Given the description of an element on the screen output the (x, y) to click on. 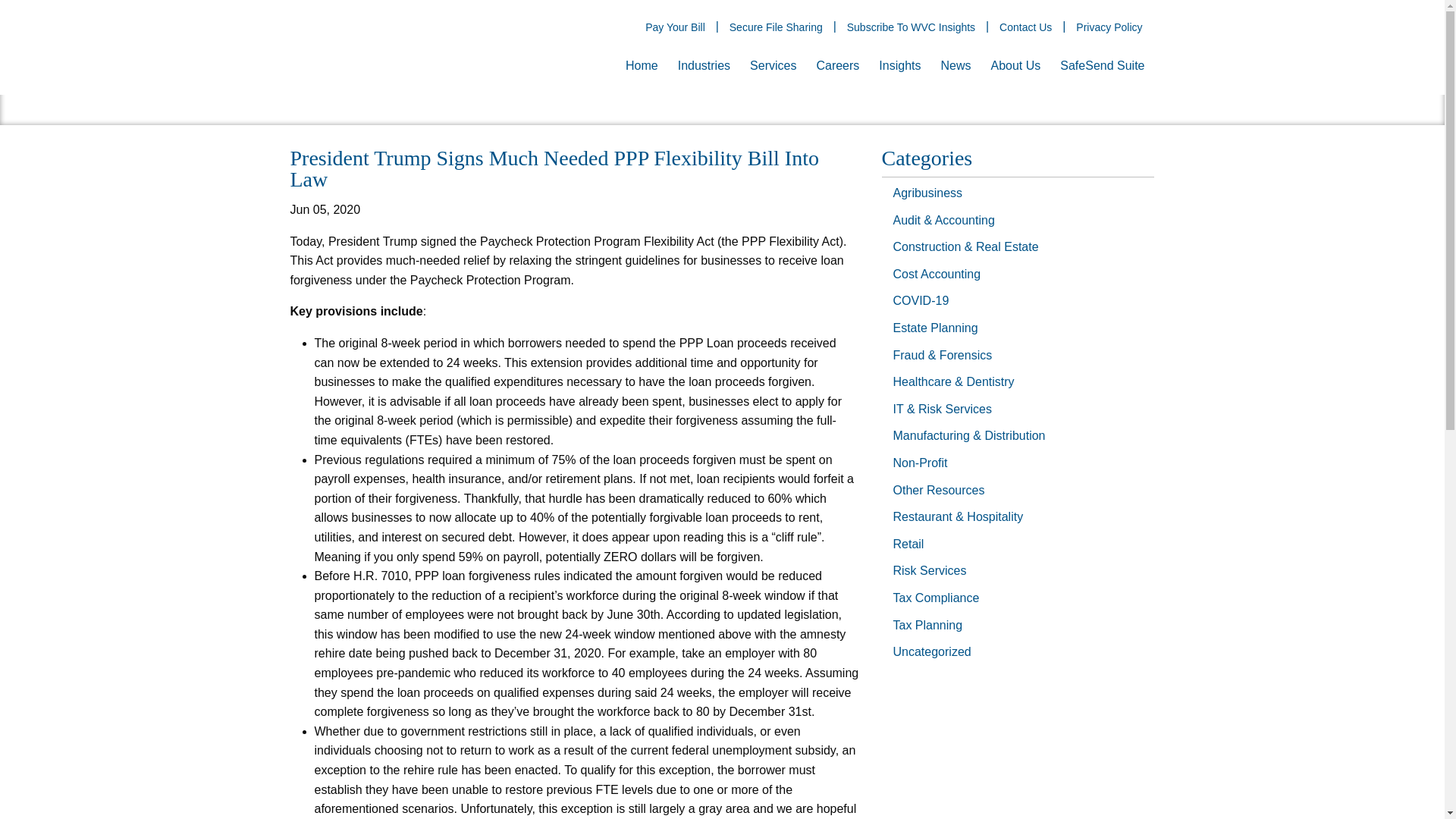
Careers (837, 66)
Pay Your Bill (675, 26)
Contact Us (1025, 26)
Privacy Policy (1109, 26)
Industries (703, 66)
SafeSend Suite (1101, 66)
Insights (899, 66)
Subscribe To WVC Insights (910, 26)
Home (641, 66)
Secure File Sharing (775, 26)
